Given the description of an element on the screen output the (x, y) to click on. 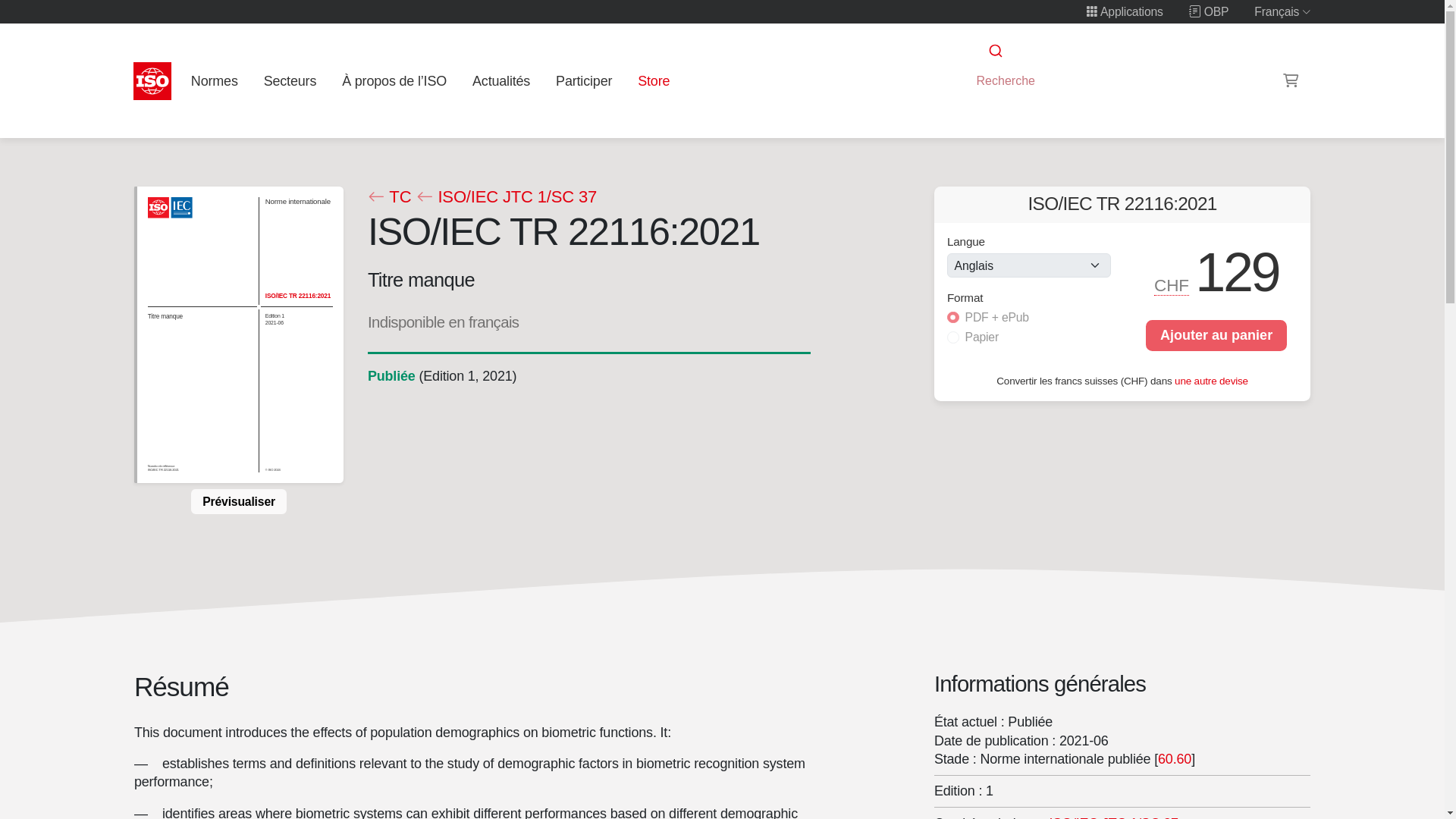
une autre devise (1210, 379)
60.60 (1174, 758)
Plateforme de consultation en ligne (1208, 11)
Organisation internationale de normalisation (152, 80)
Submit (993, 51)
Cycle de vie (390, 376)
 OBP (1208, 11)
Portail des applications de l'ISO (1124, 11)
Normes (214, 80)
Secteurs (290, 80)
TC (388, 197)
60.60 (1174, 758)
Participer (584, 80)
Ajouter au panier (1217, 335)
Francs suisses (1171, 285)
